Given the description of an element on the screen output the (x, y) to click on. 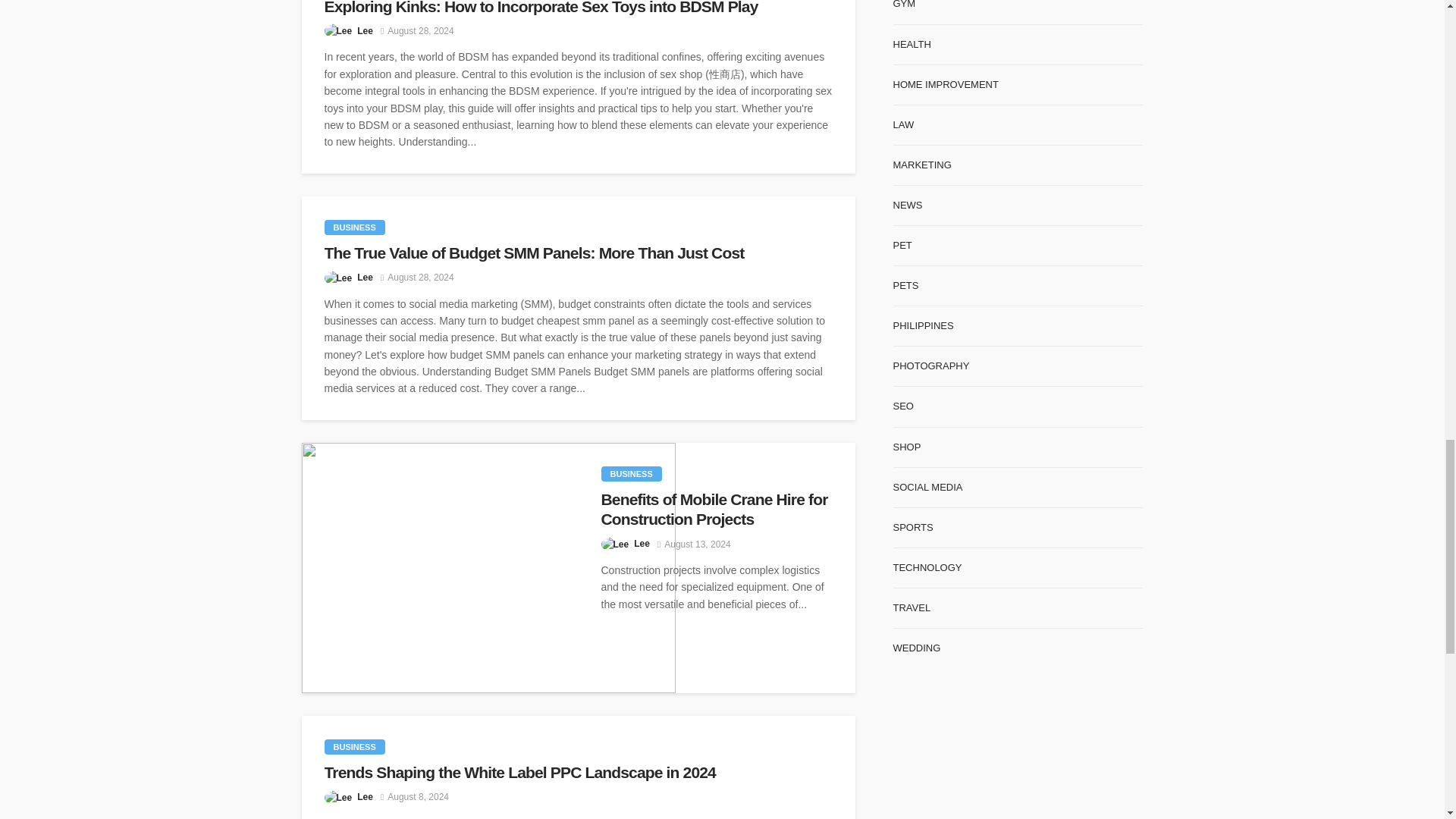
Lee (364, 277)
Exploring Kinks: How to Incorporate Sex Toys into BDSM Play (578, 8)
Lee (364, 30)
Lee (641, 543)
Exploring Kinks: How to Incorporate Sex Toys into BDSM Play (578, 8)
BUSINESS (354, 227)
Business (354, 227)
Benefits of Mobile Crane Hire for Construction Projects (488, 567)
Benefits of Mobile Crane Hire for Construction Projects (715, 509)
Trends Shaping the White Label PPC Landscape in 2024 (578, 772)
